Given the description of an element on the screen output the (x, y) to click on. 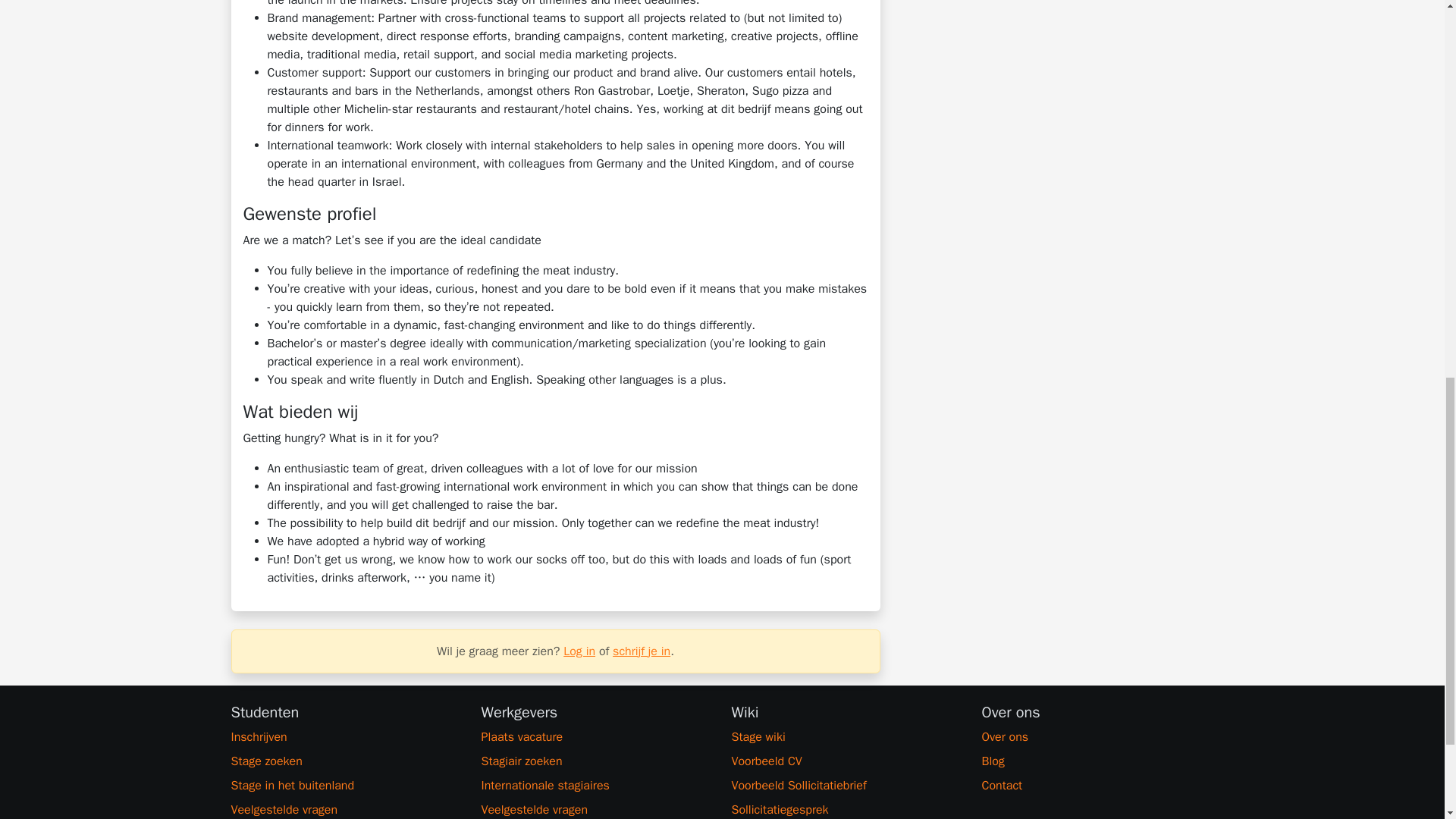
Stage in het buitenland (346, 785)
Veelgestelde vragen (596, 809)
Stage wiki (846, 737)
Internationale stagiaires (596, 785)
Log in (579, 651)
Voorbeeld Sollicitatiebrief (846, 785)
Stagiair zoeken (596, 761)
Plaats vacature (596, 737)
Inschrijven (346, 737)
schrijf je in (640, 651)
